Given the description of an element on the screen output the (x, y) to click on. 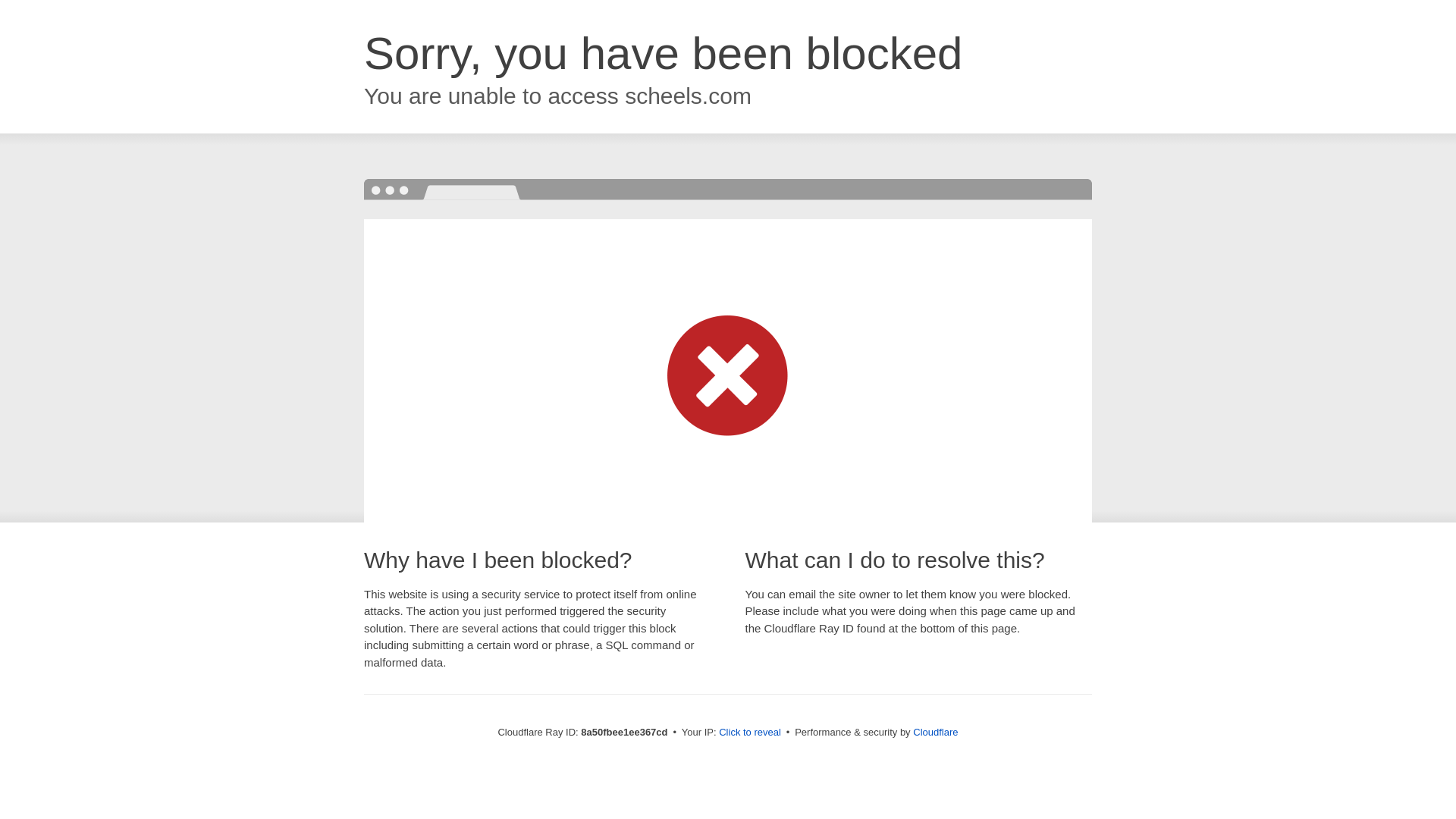
Click to reveal (749, 732)
Cloudflare (935, 731)
